Given the description of an element on the screen output the (x, y) to click on. 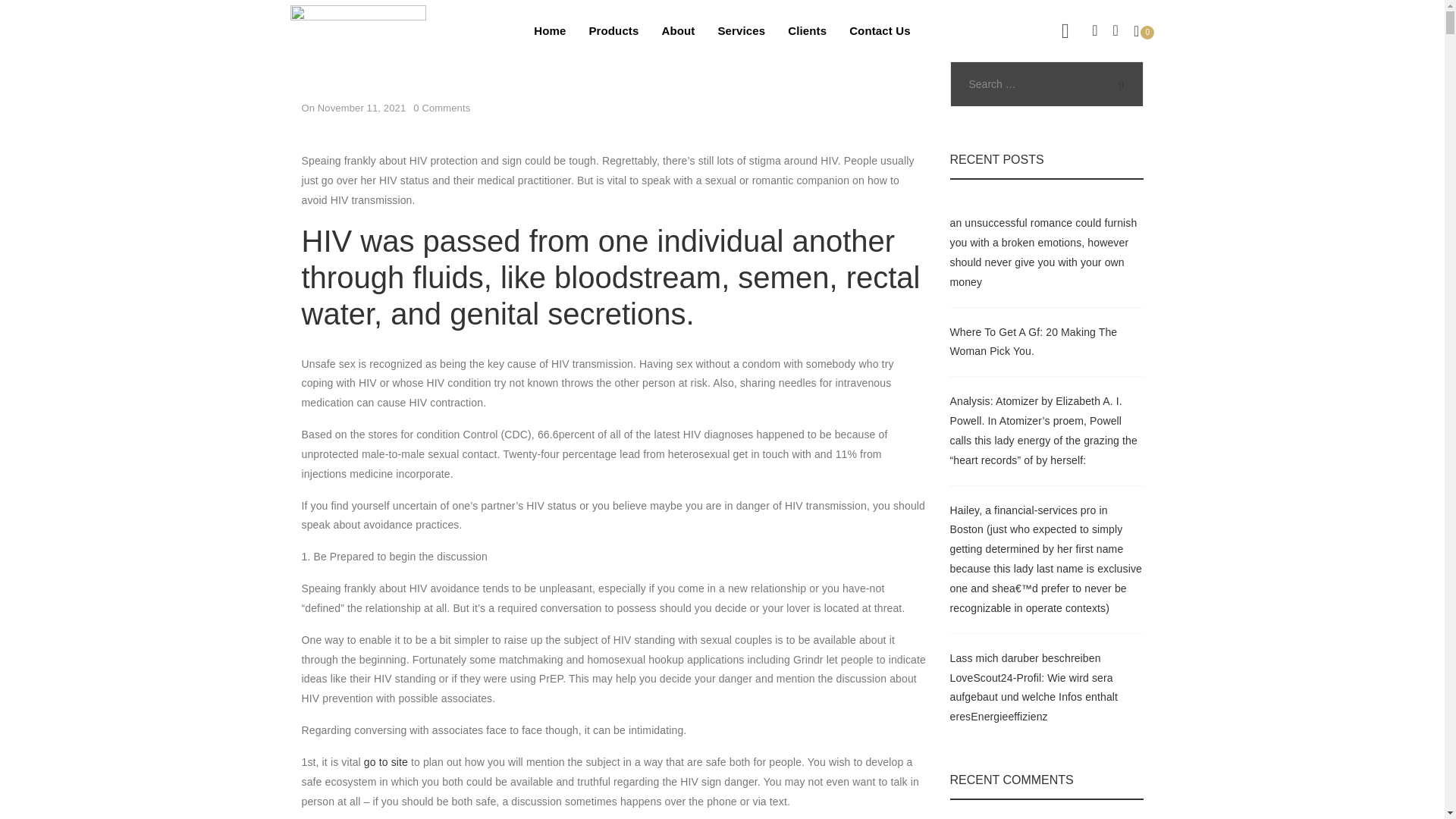
0 (1144, 30)
go to site (385, 761)
0 Comments (441, 107)
Login (991, 293)
View your shopping cart (1144, 30)
Contact Us (879, 30)
Where To Get A Gf: 20 Making The Woman Pick You. (1032, 341)
